Given the description of an element on the screen output the (x, y) to click on. 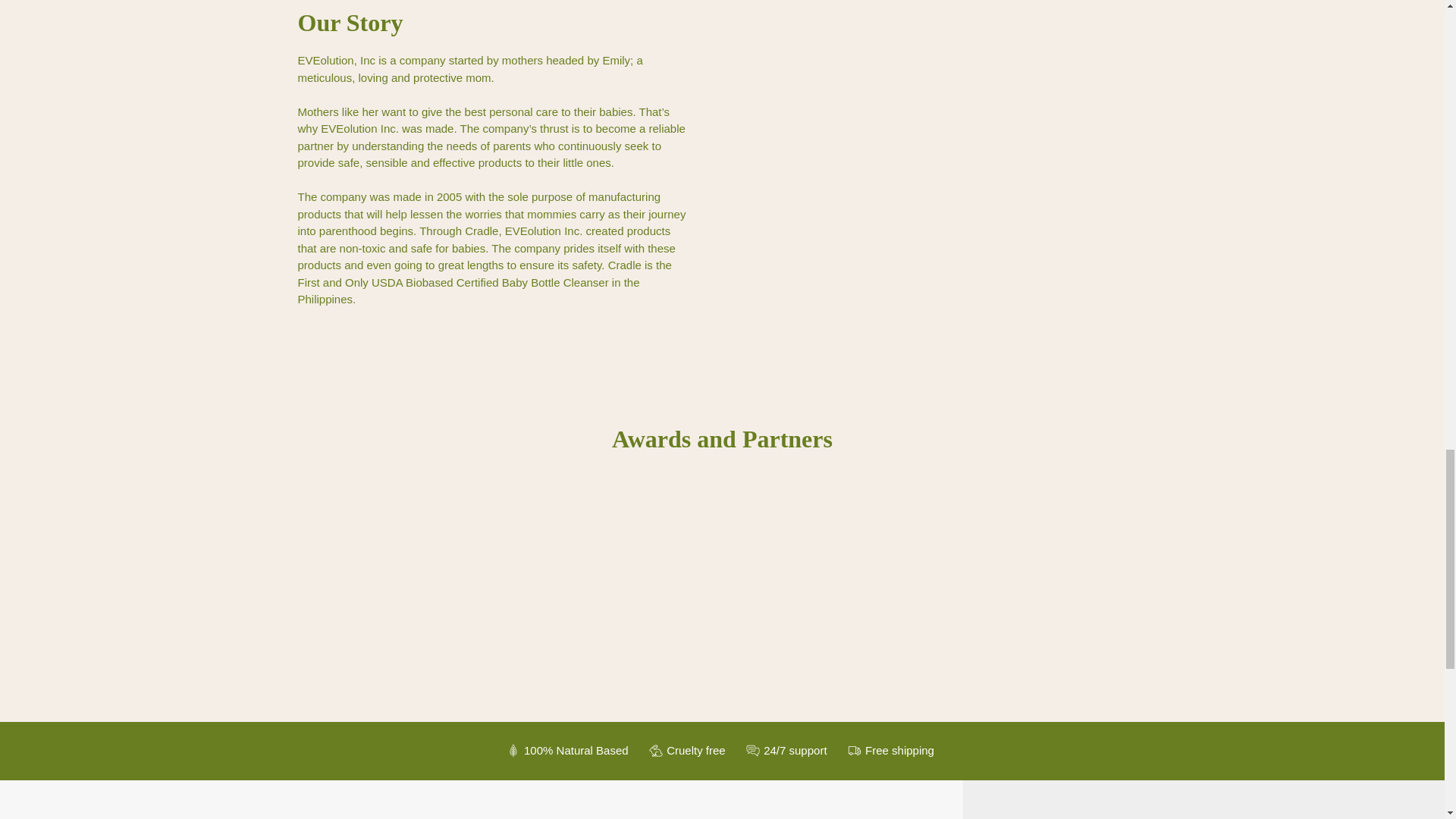
Cradle Natural (87, 807)
